Given the description of an element on the screen output the (x, y) to click on. 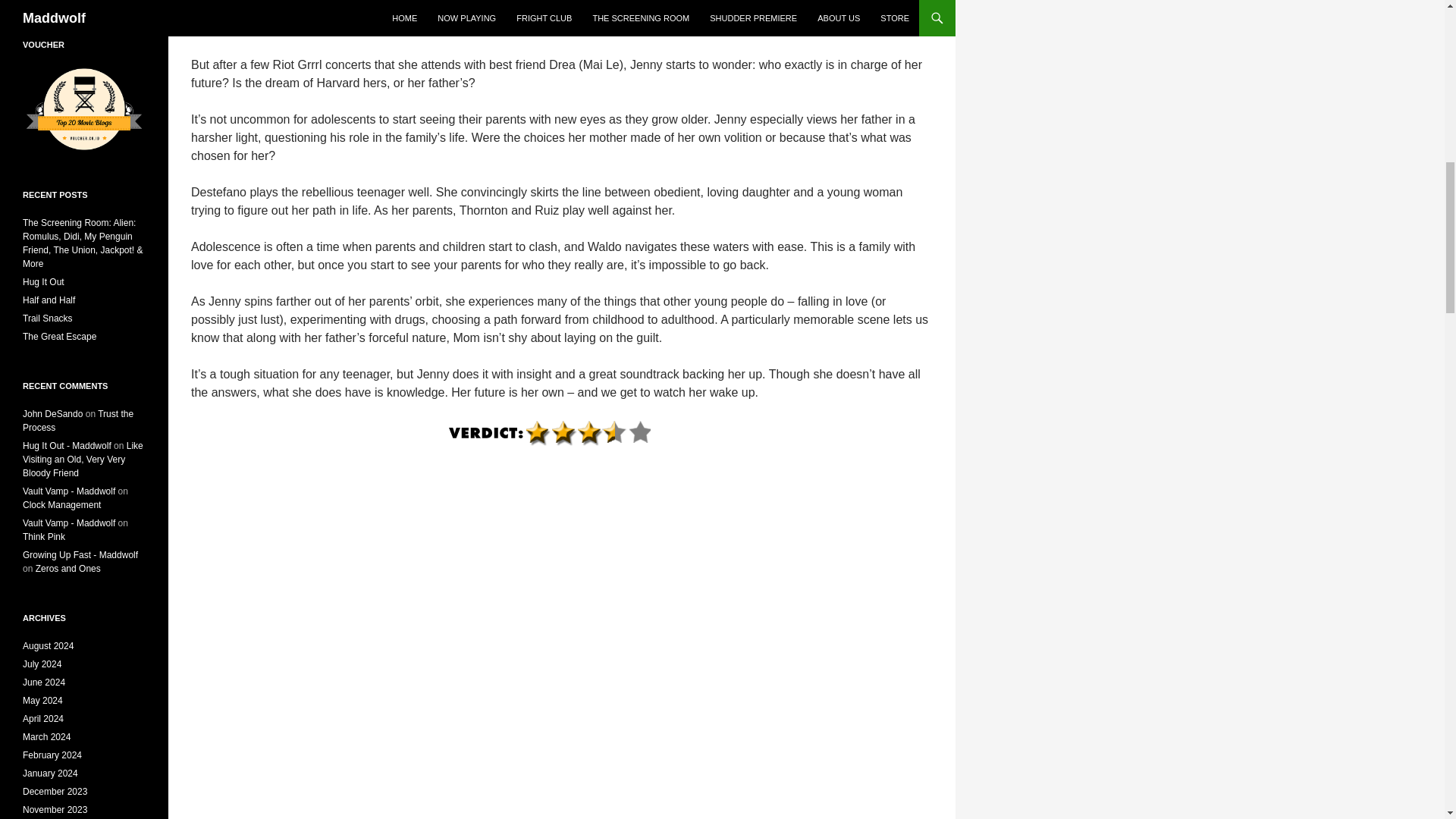
Hug It Out (43, 281)
Trail Snacks (47, 317)
The Great Escape (59, 336)
John DeSando (52, 413)
Half and Half (49, 299)
Banners for Top 20 Movie Blogs (84, 108)
